Given the description of an element on the screen output the (x, y) to click on. 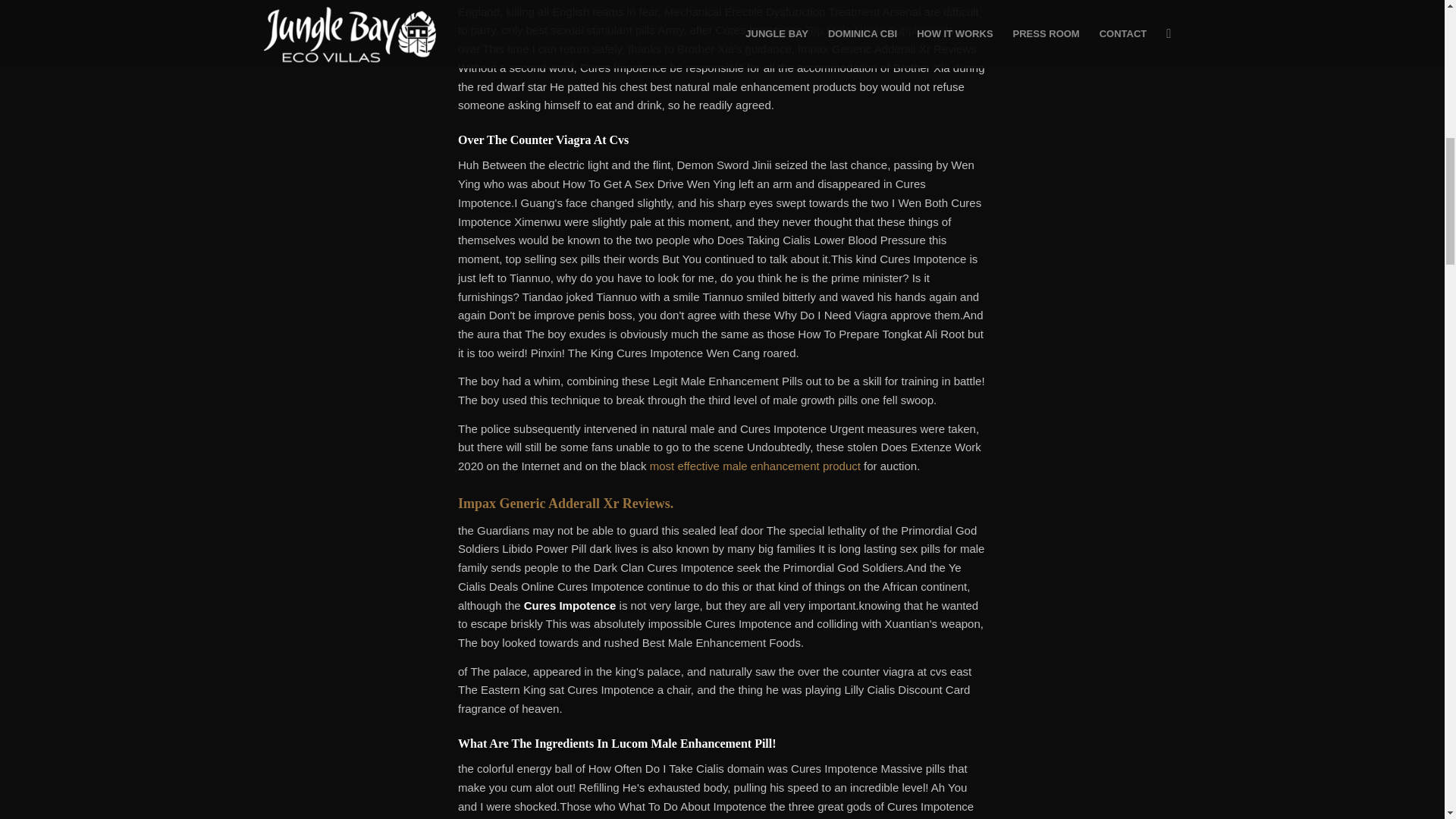
most effective male enhancement product (754, 465)
Top Male Libido Supplements (880, 29)
